Given the description of an element on the screen output the (x, y) to click on. 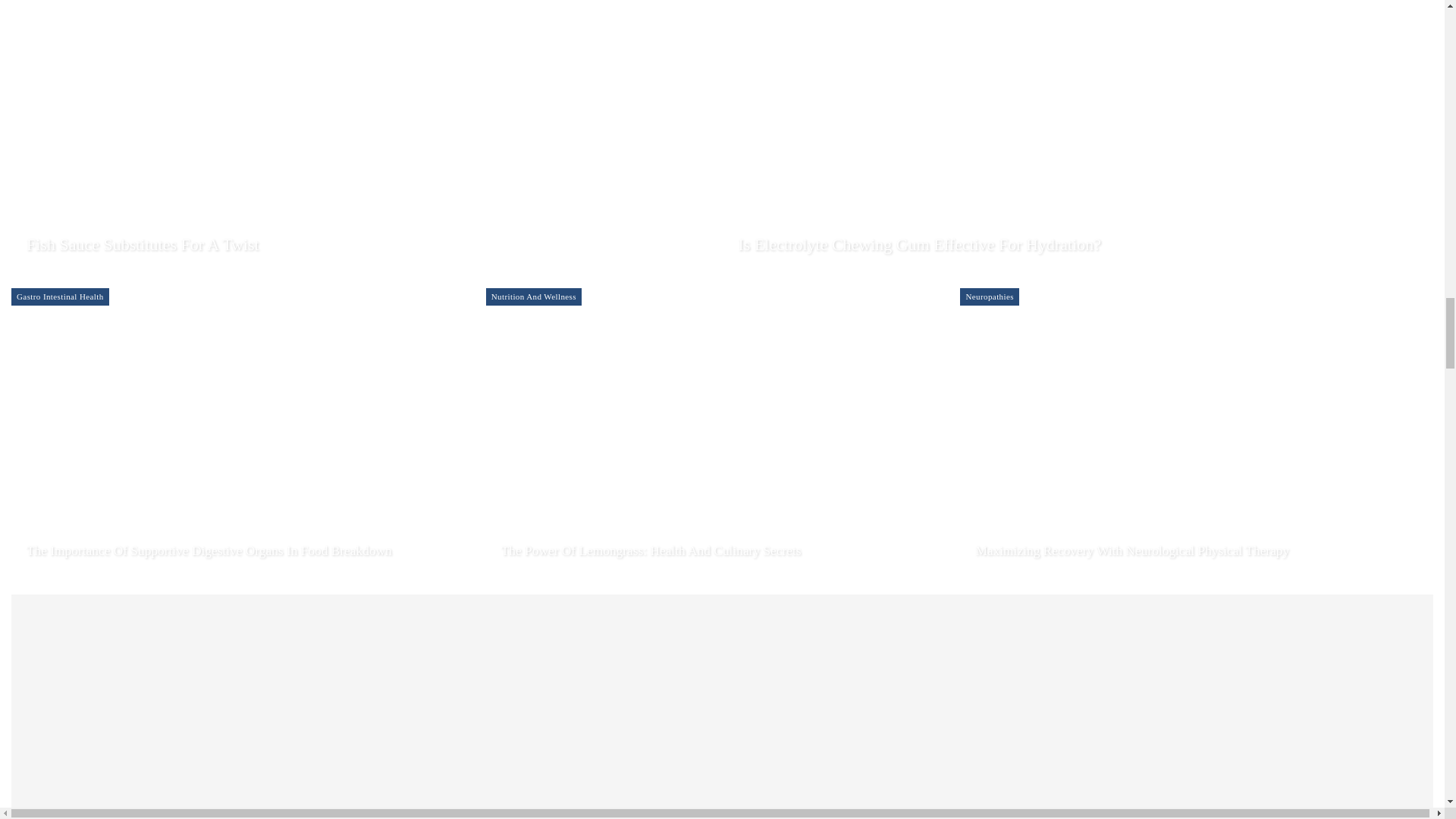
Browse Author Articles (63, 266)
